Given the description of an element on the screen output the (x, y) to click on. 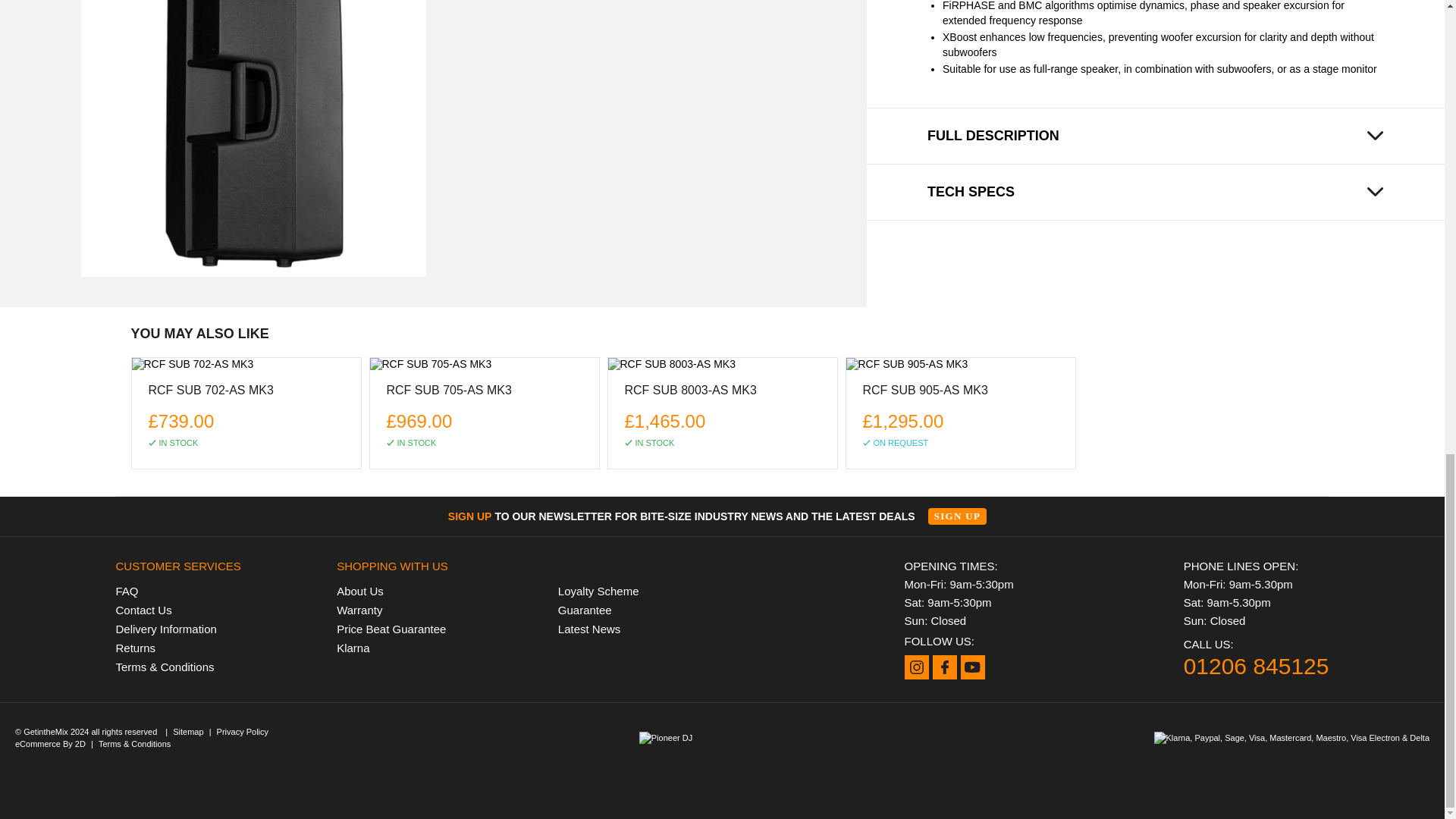
RCF SUB 705-AS MK3 (449, 393)
RCF ART 735-A MK5 (252, 138)
RCF SUB 705-AS MK3 (483, 363)
RCF SUB 702-AS MK3 (246, 363)
RCF SUB 702-AS MK3 (210, 393)
